Given the description of an element on the screen output the (x, y) to click on. 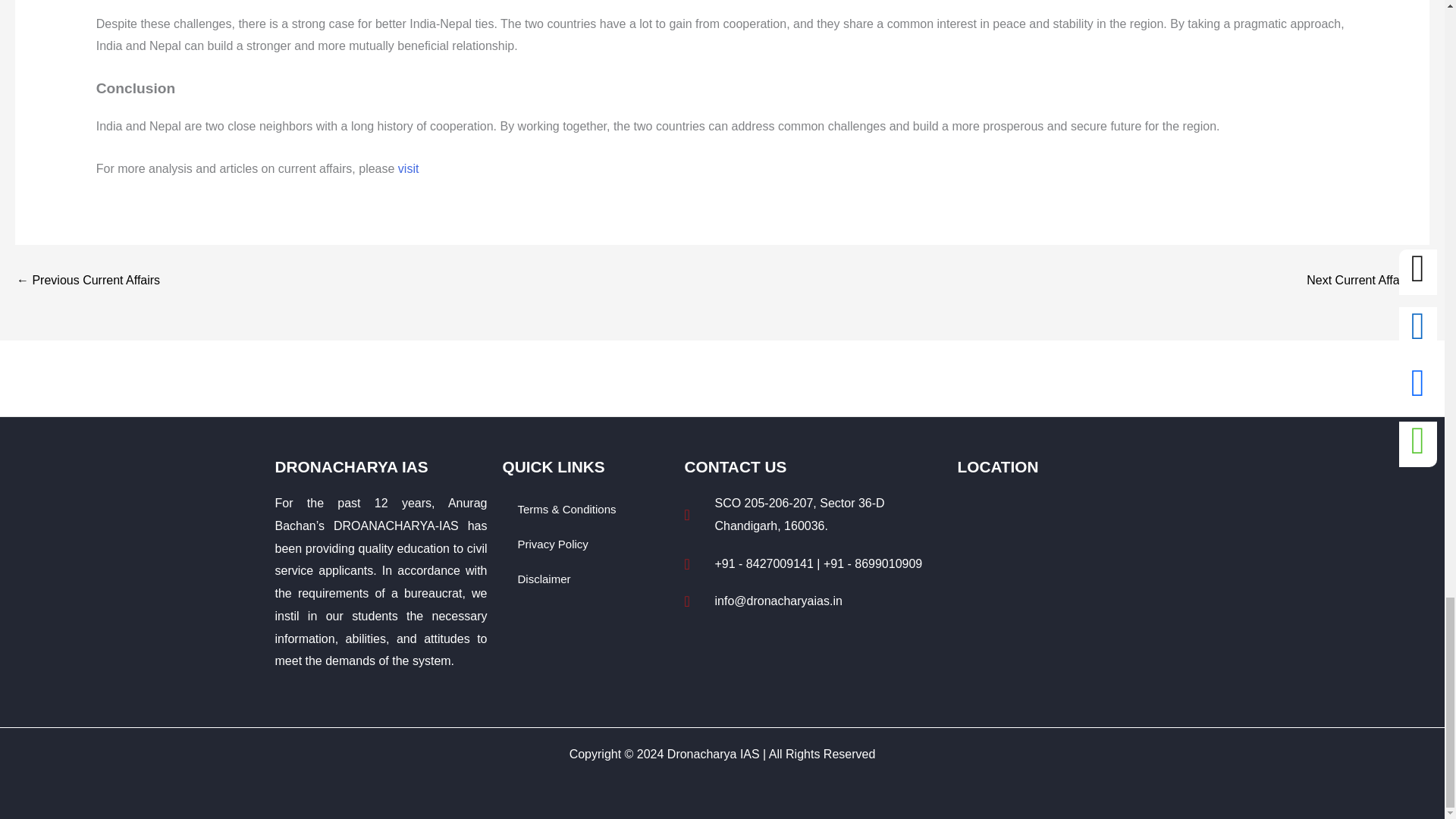
dronacharya ias (1062, 605)
How does the rail interlocking system work? (1367, 280)
Bridging the growing trust deficit in Manipur (88, 280)
